Given the description of an element on the screen output the (x, y) to click on. 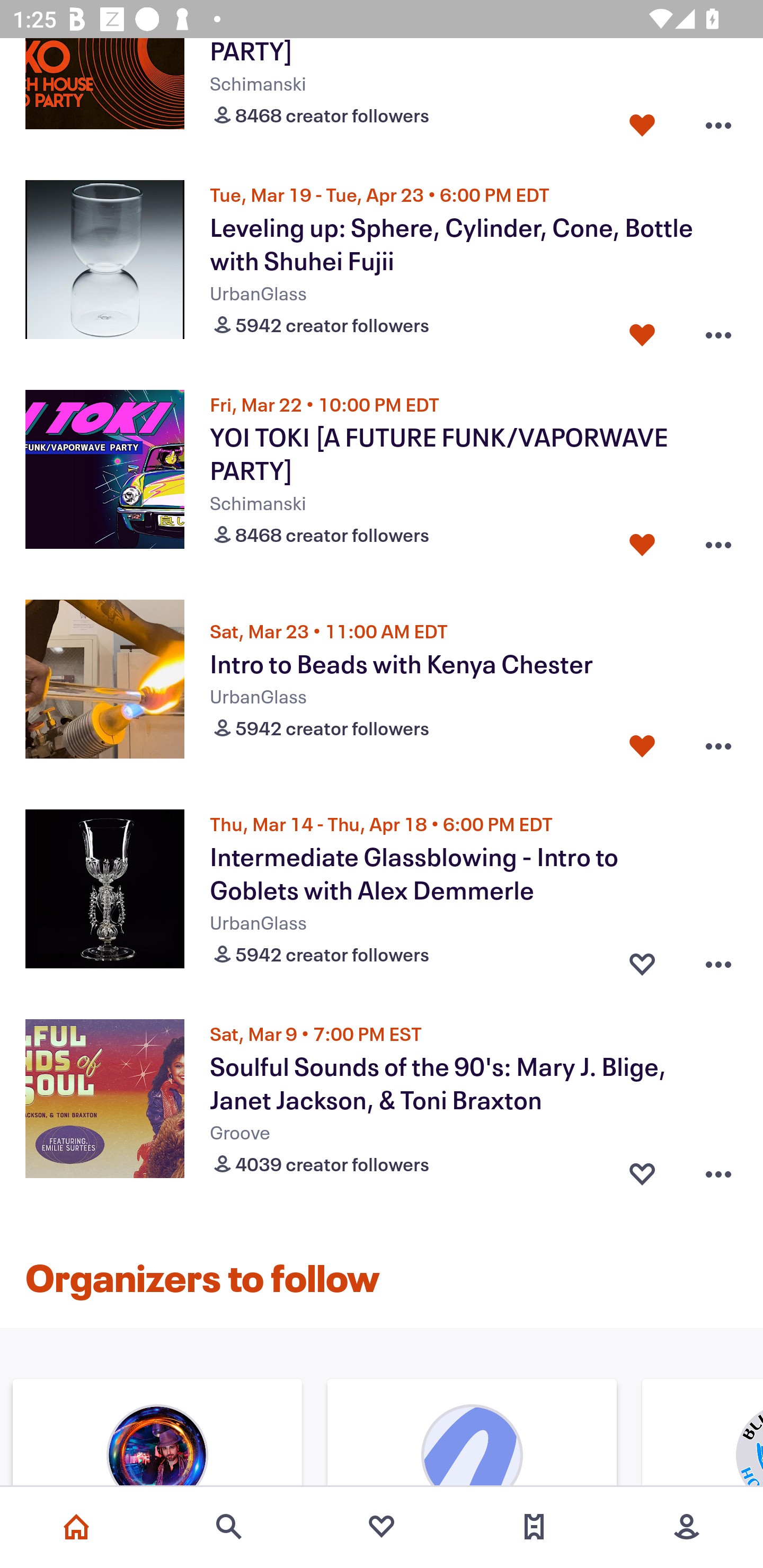
Favorite button (642, 121)
Overflow menu button (718, 121)
Favorite button (642, 330)
Overflow menu button (718, 330)
Favorite button (642, 539)
Overflow menu button (718, 539)
Favorite button (642, 746)
Overflow menu button (718, 746)
Favorite button (642, 960)
Overflow menu button (718, 960)
Favorite button (642, 1170)
Overflow menu button (718, 1170)
Organizer's image (157, 1434)
Organizer's image (471, 1434)
Home (76, 1526)
Search events (228, 1526)
Favorites (381, 1526)
Tickets (533, 1526)
More (686, 1526)
